Given the description of an element on the screen output the (x, y) to click on. 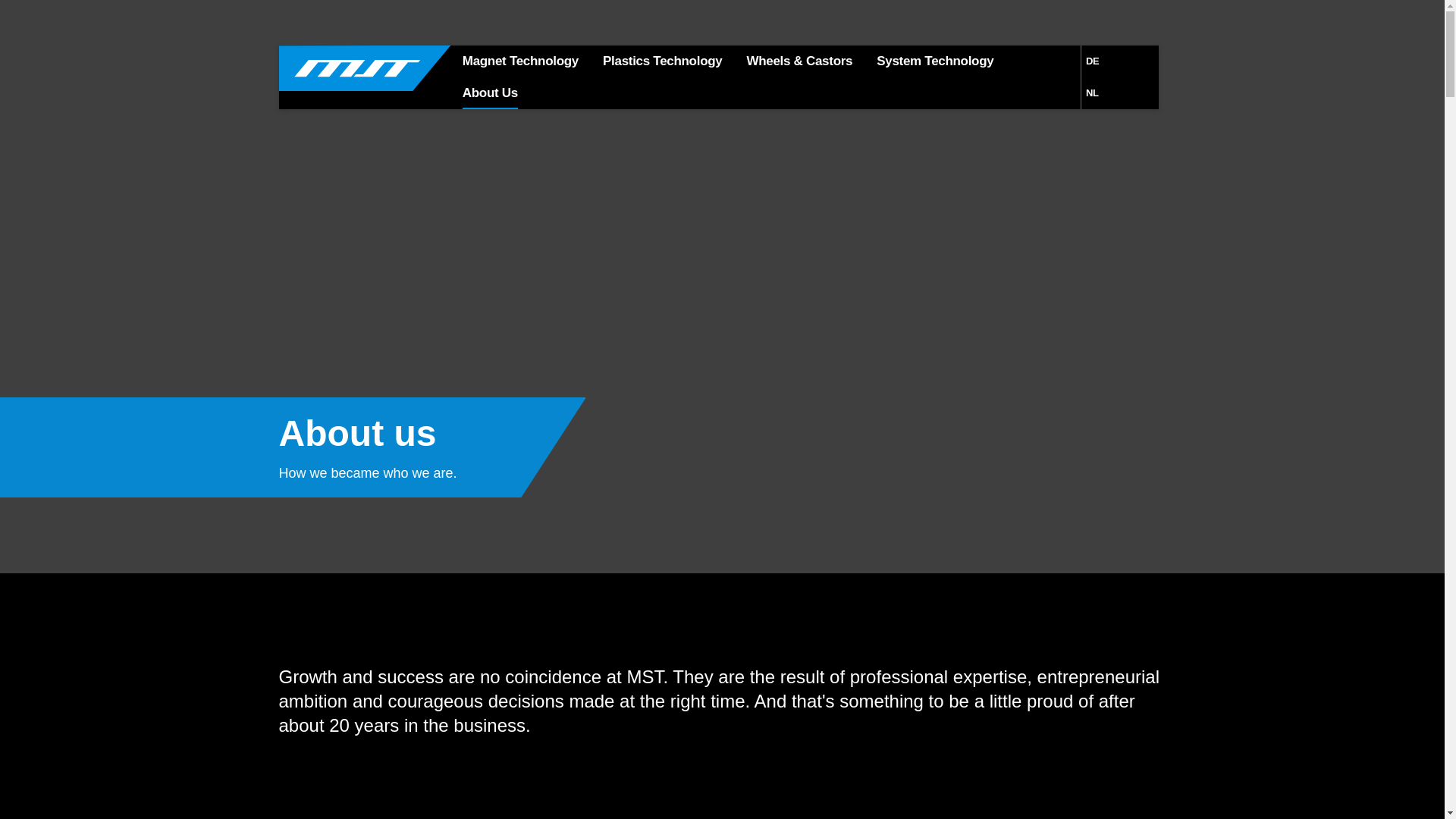
Magnet Technology (520, 60)
Mannel (364, 67)
System Technology (935, 60)
System Technology (935, 60)
Plastics Technology (662, 60)
Plastics Technology (662, 60)
About Us (489, 92)
Search (743, 69)
Magnet Technology (520, 60)
About Us (489, 92)
